Given the description of an element on the screen output the (x, y) to click on. 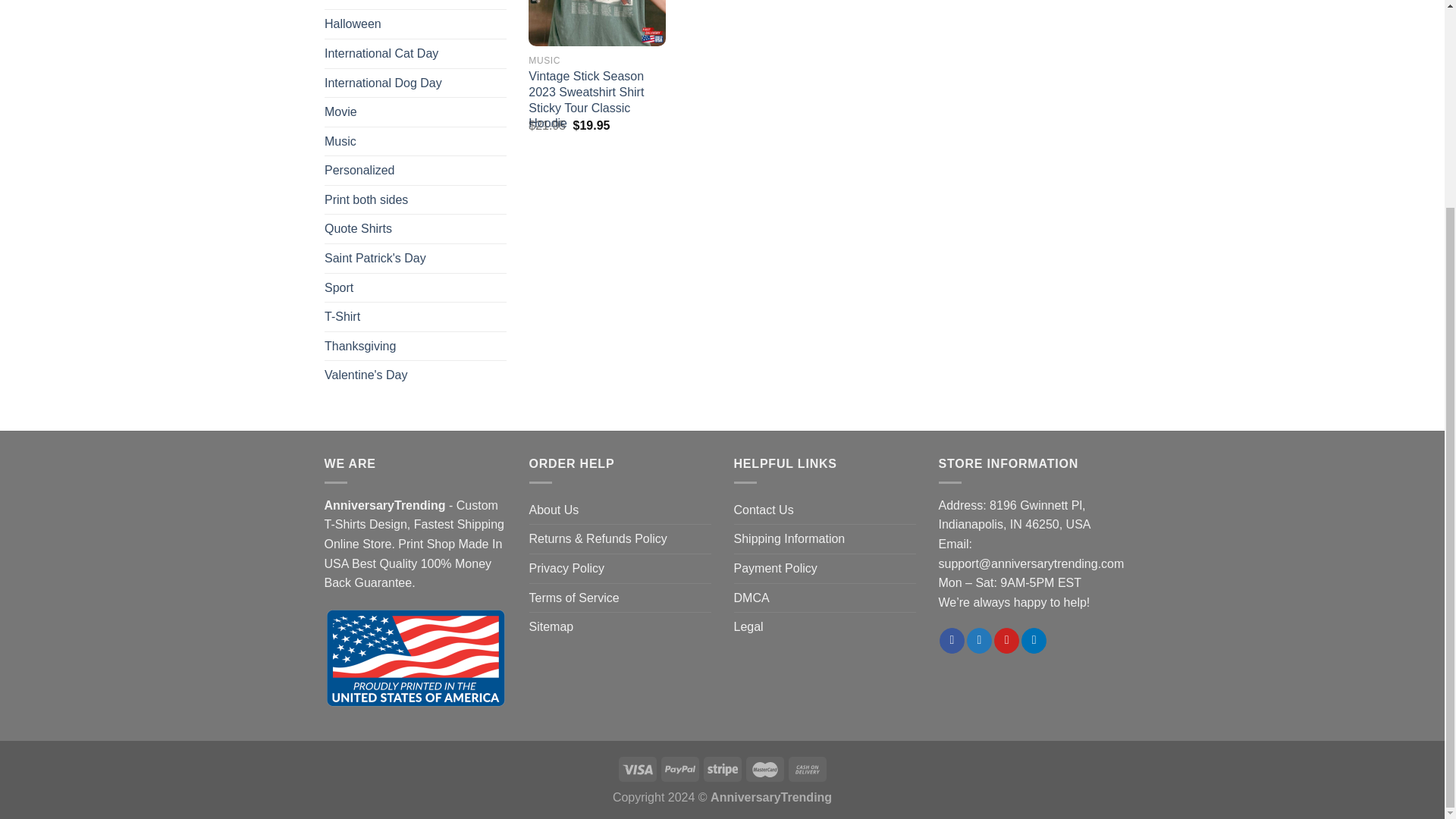
Movie (415, 111)
T-Shirt (415, 316)
Thanksgiving (415, 345)
Print both sides (415, 199)
Follow on LinkedIn (1034, 640)
Valentine's Day (415, 375)
Follow on Twitter (978, 640)
Sport (415, 287)
Halloween (415, 23)
Follow on Facebook (951, 640)
Personalized (415, 170)
Saint Patrick's Day (415, 258)
Follow on Pinterest (1006, 640)
Gift For Mom (415, 4)
International Cat Day (415, 53)
